Given the description of an element on the screen output the (x, y) to click on. 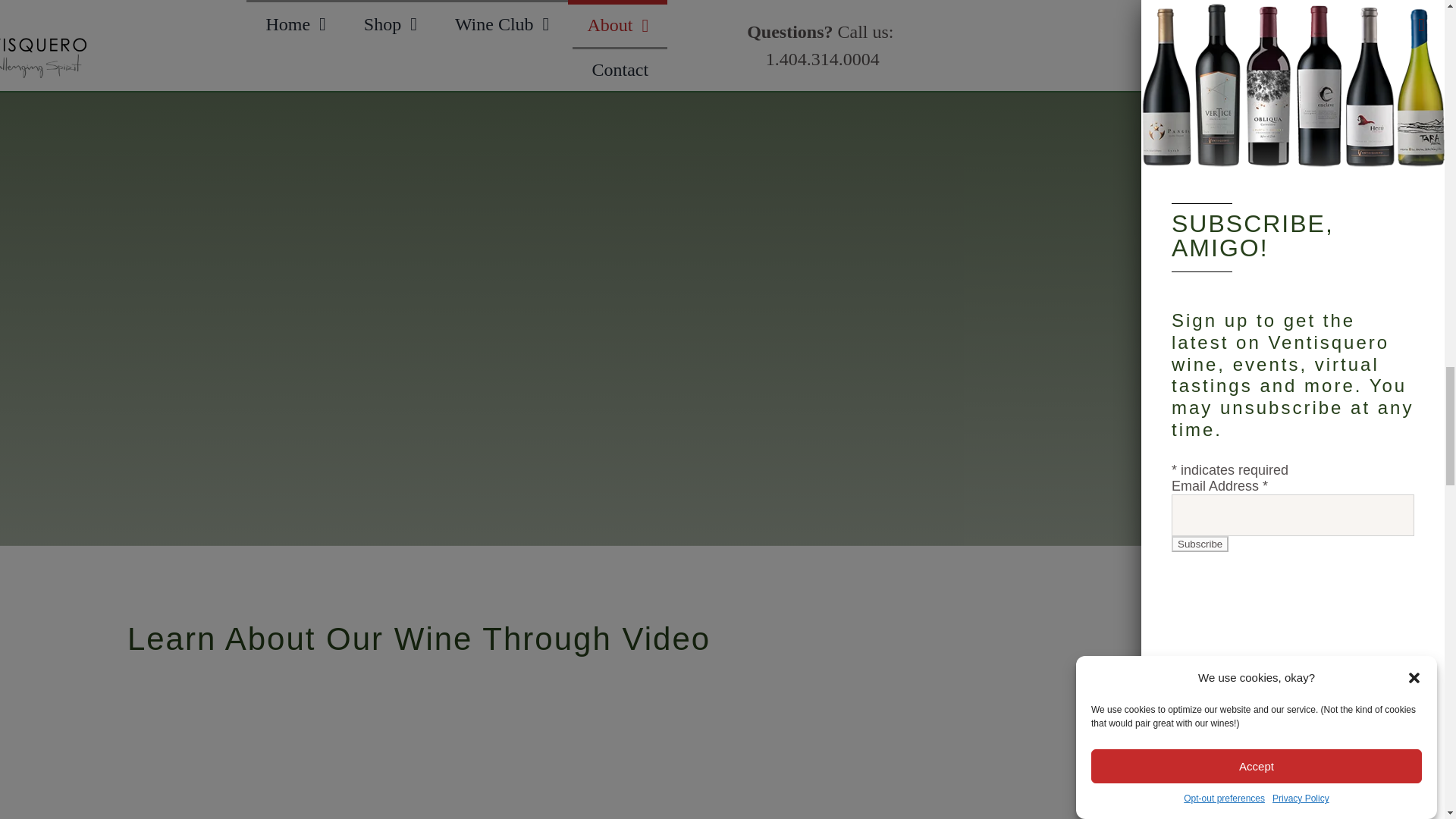
YouTube video player 1 (419, 745)
